Given the description of an element on the screen output the (x, y) to click on. 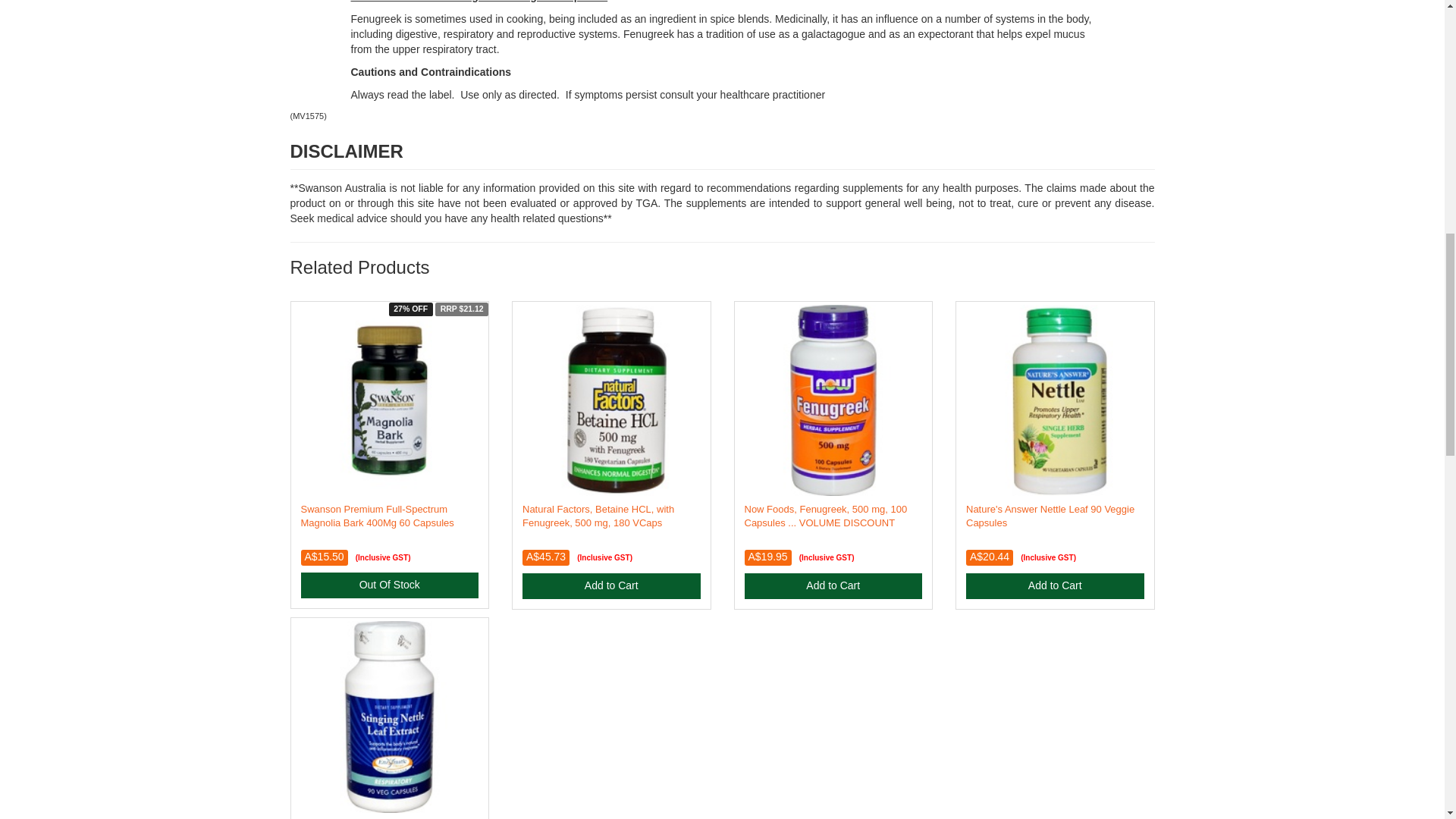
Add to Cart (1055, 585)
Add to Cart (833, 585)
Nature's Answer Nettle Leaf 90 Veggie Capsules (1050, 515)
Notify Me When Back In Stock (389, 585)
Add to Cart (611, 585)
